Given the description of an element on the screen output the (x, y) to click on. 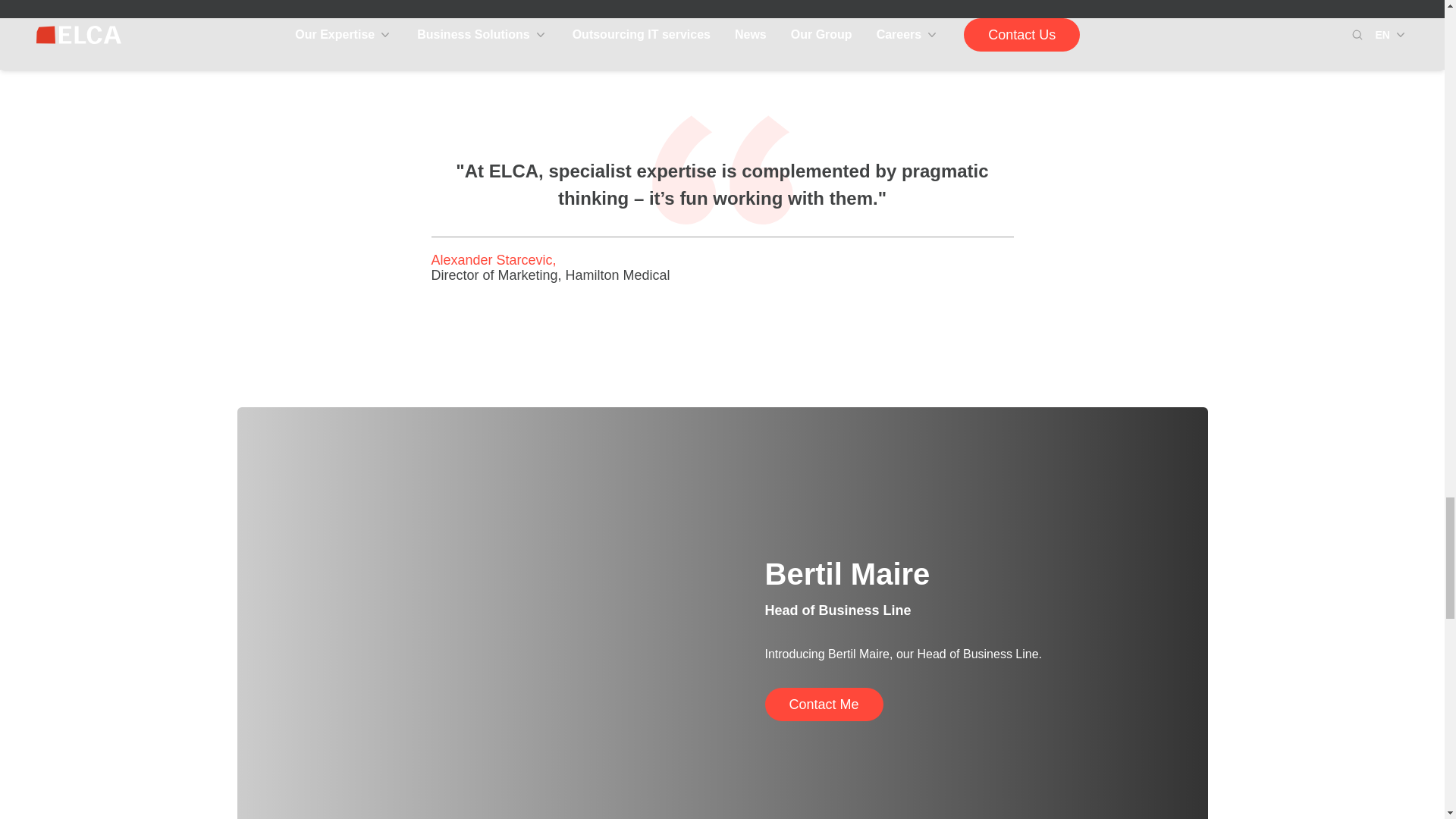
Contact Me (823, 704)
